Given the description of an element on the screen output the (x, y) to click on. 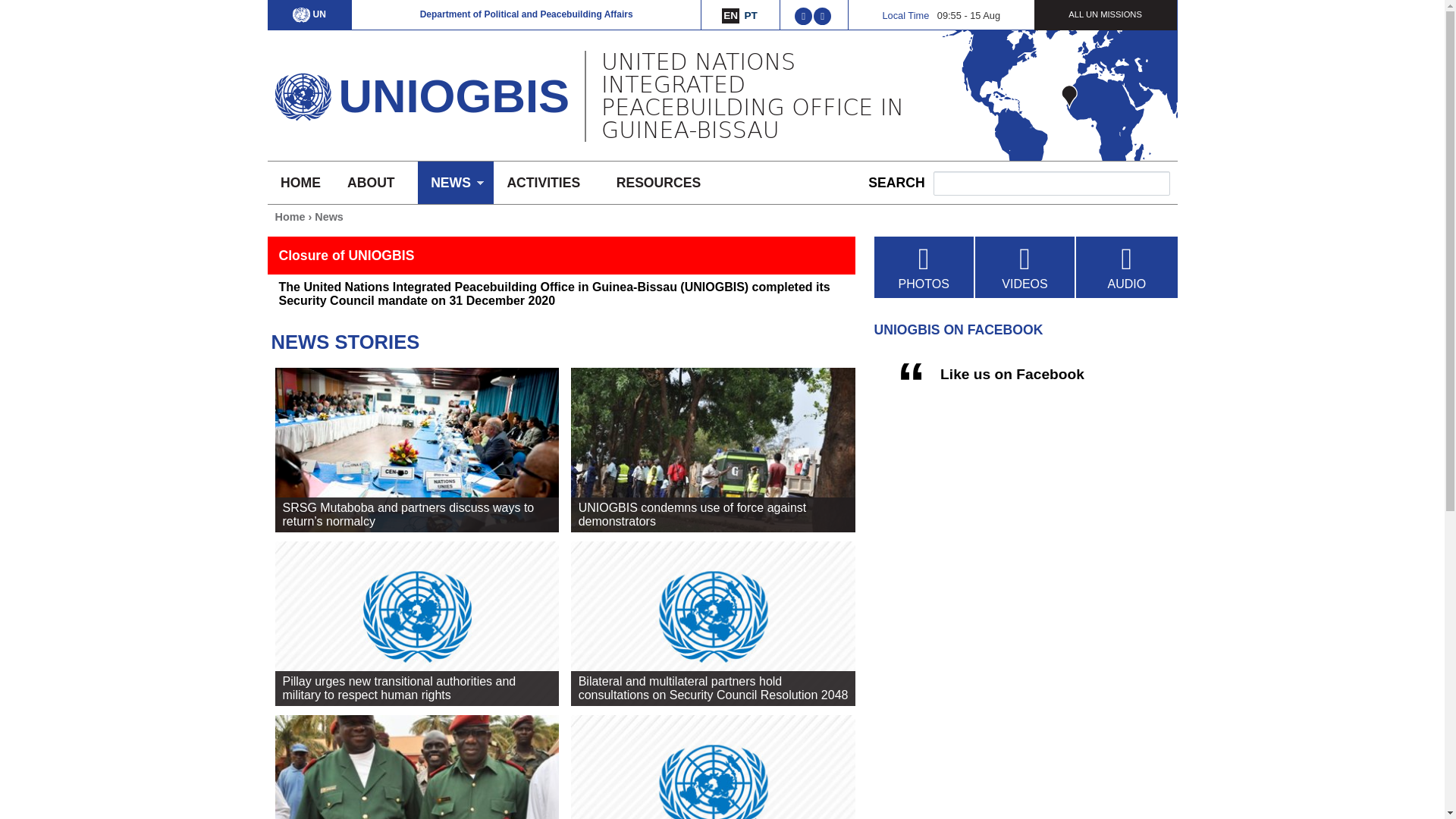
EN (730, 15)
Actualidades (750, 15)
UN (309, 14)
HOME (299, 182)
Home (301, 92)
Department of Political and Peacebuilding Affairs (526, 14)
News stories (730, 15)
ALL UN MISSIONS (1105, 13)
UNIOGBIS (453, 95)
PT (750, 15)
